Given the description of an element on the screen output the (x, y) to click on. 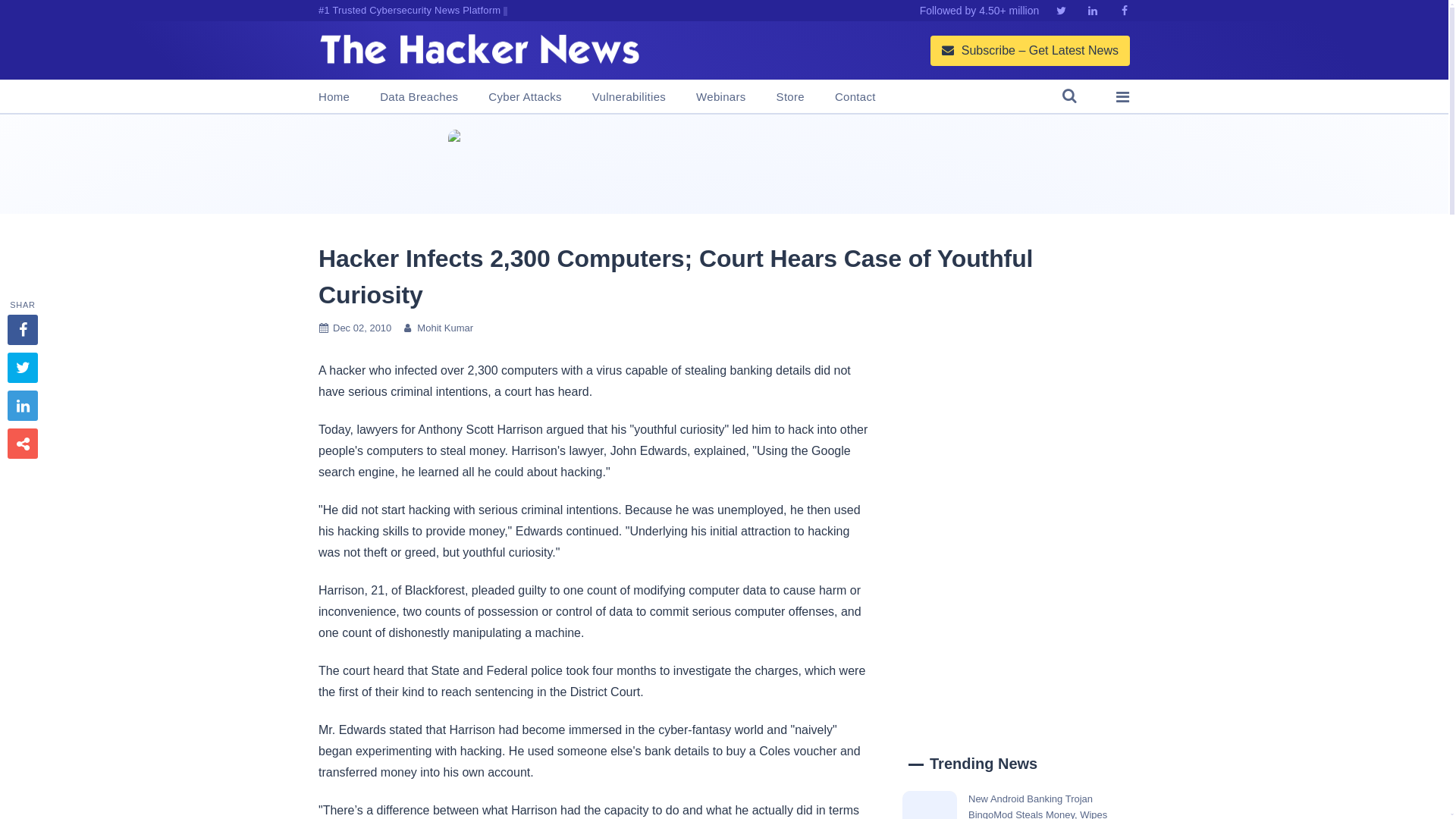
Data Breaches (419, 96)
Webinars (720, 96)
Contact (855, 96)
Cyber Attacks (523, 96)
Vulnerabilities (628, 96)
Home (333, 96)
